Given the description of an element on the screen output the (x, y) to click on. 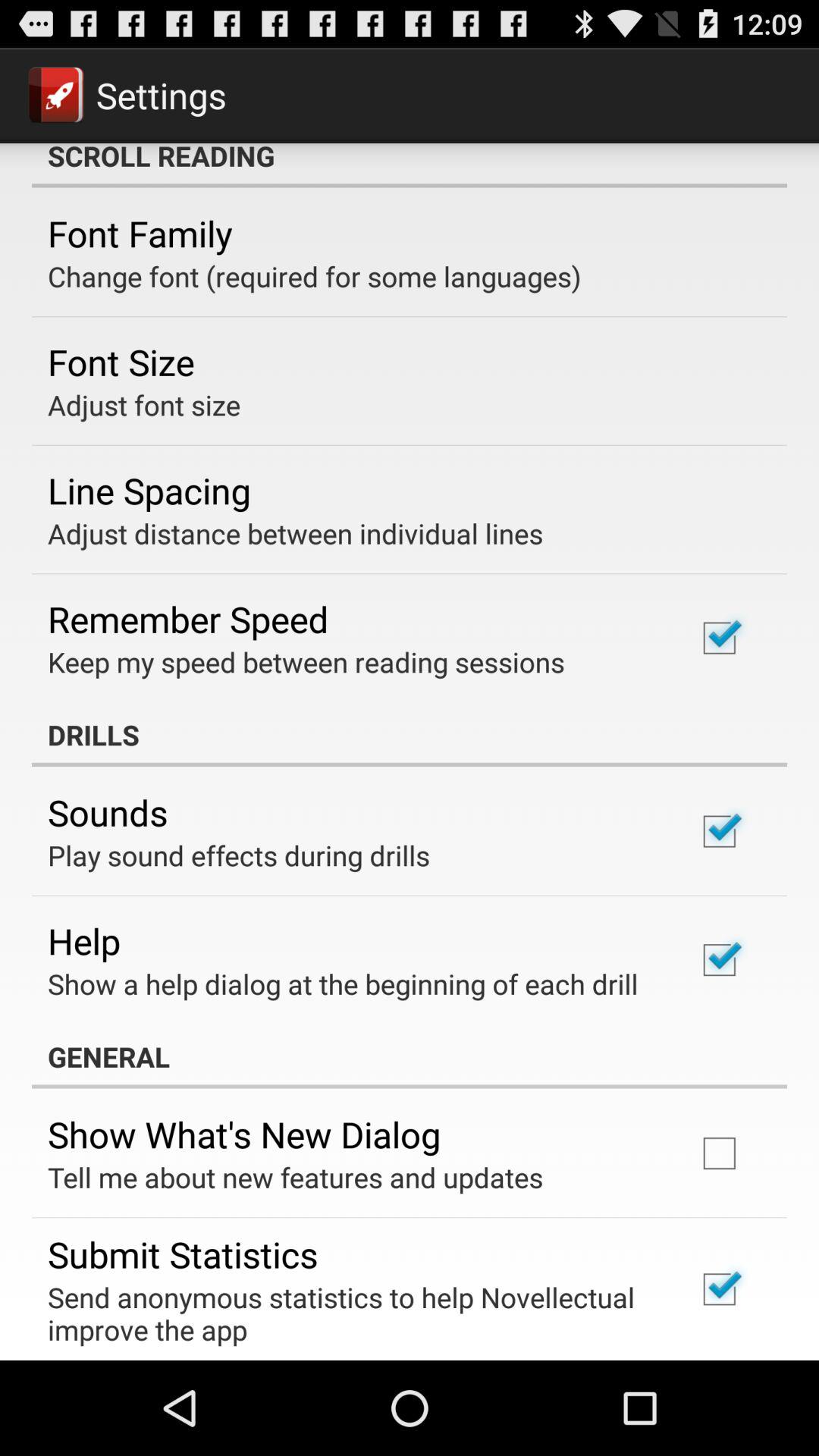
tap the app above the show what s (409, 1056)
